Given the description of an element on the screen output the (x, y) to click on. 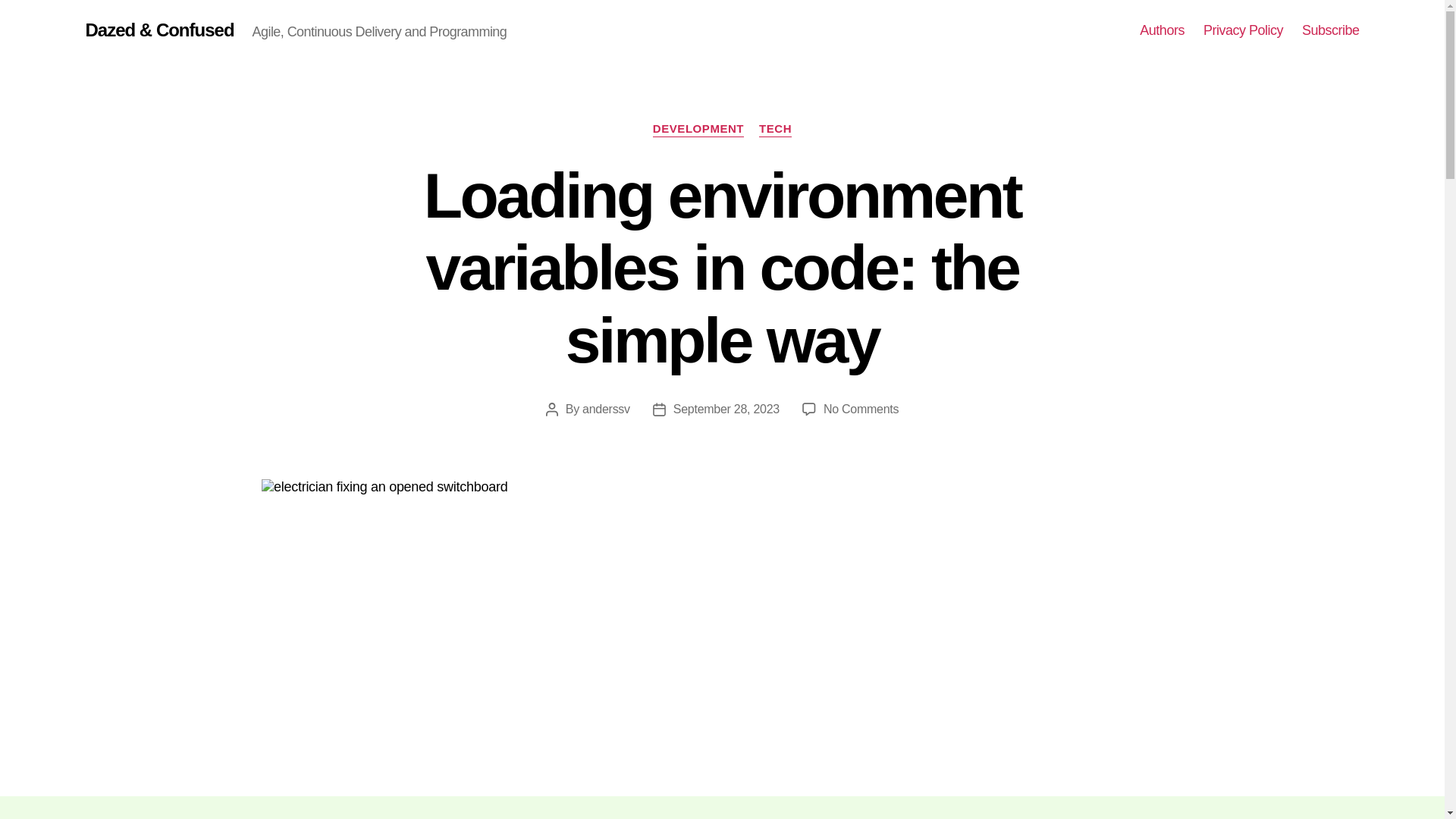
TECH (775, 129)
DEVELOPMENT (698, 129)
Authors (1162, 30)
September 28, 2023 (725, 408)
Subscribe (1330, 30)
Privacy Policy (1243, 30)
anderssv (606, 408)
